Given the description of an element on the screen output the (x, y) to click on. 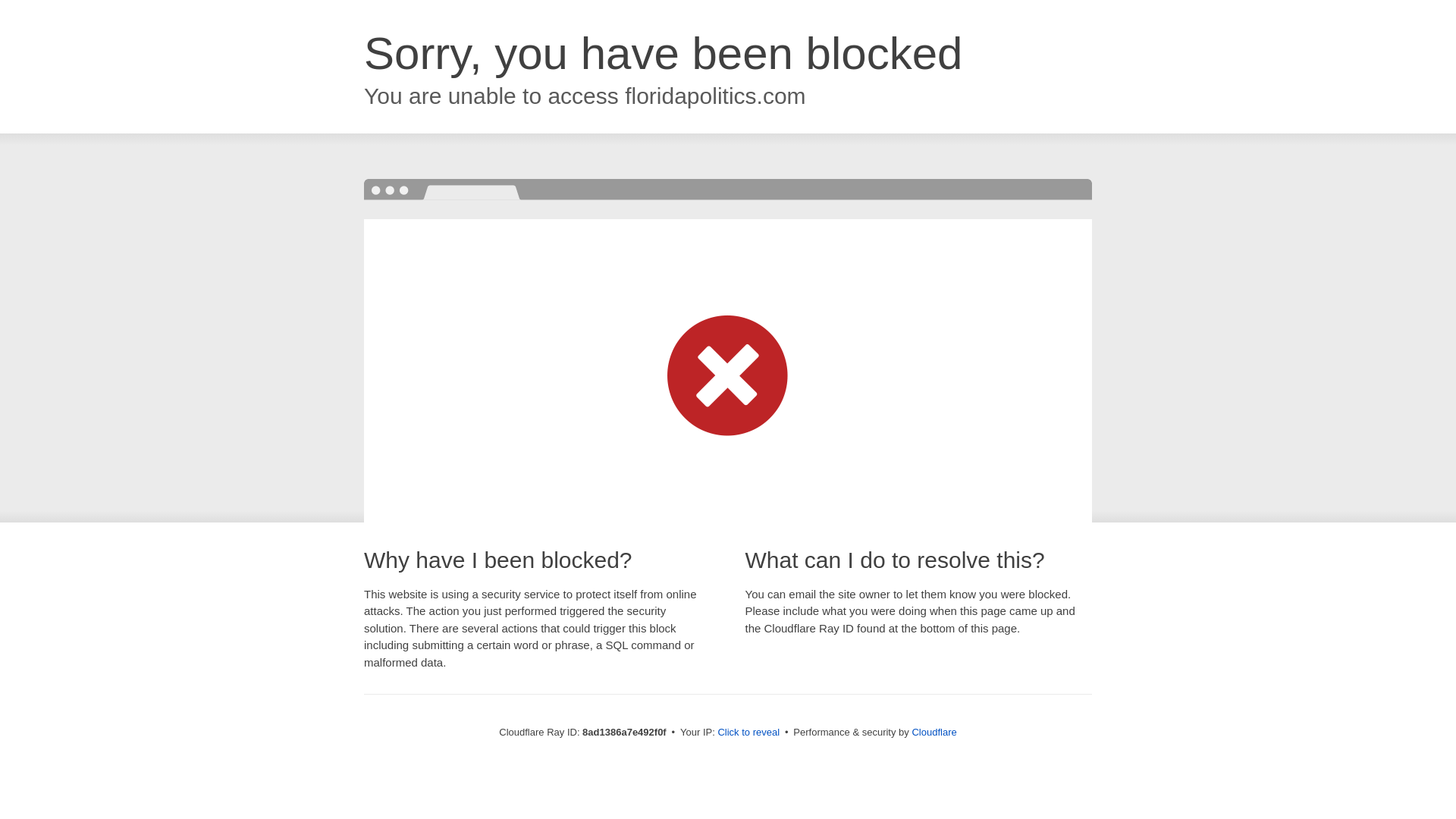
Click to reveal (747, 732)
Cloudflare (933, 731)
